Given the description of an element on the screen output the (x, y) to click on. 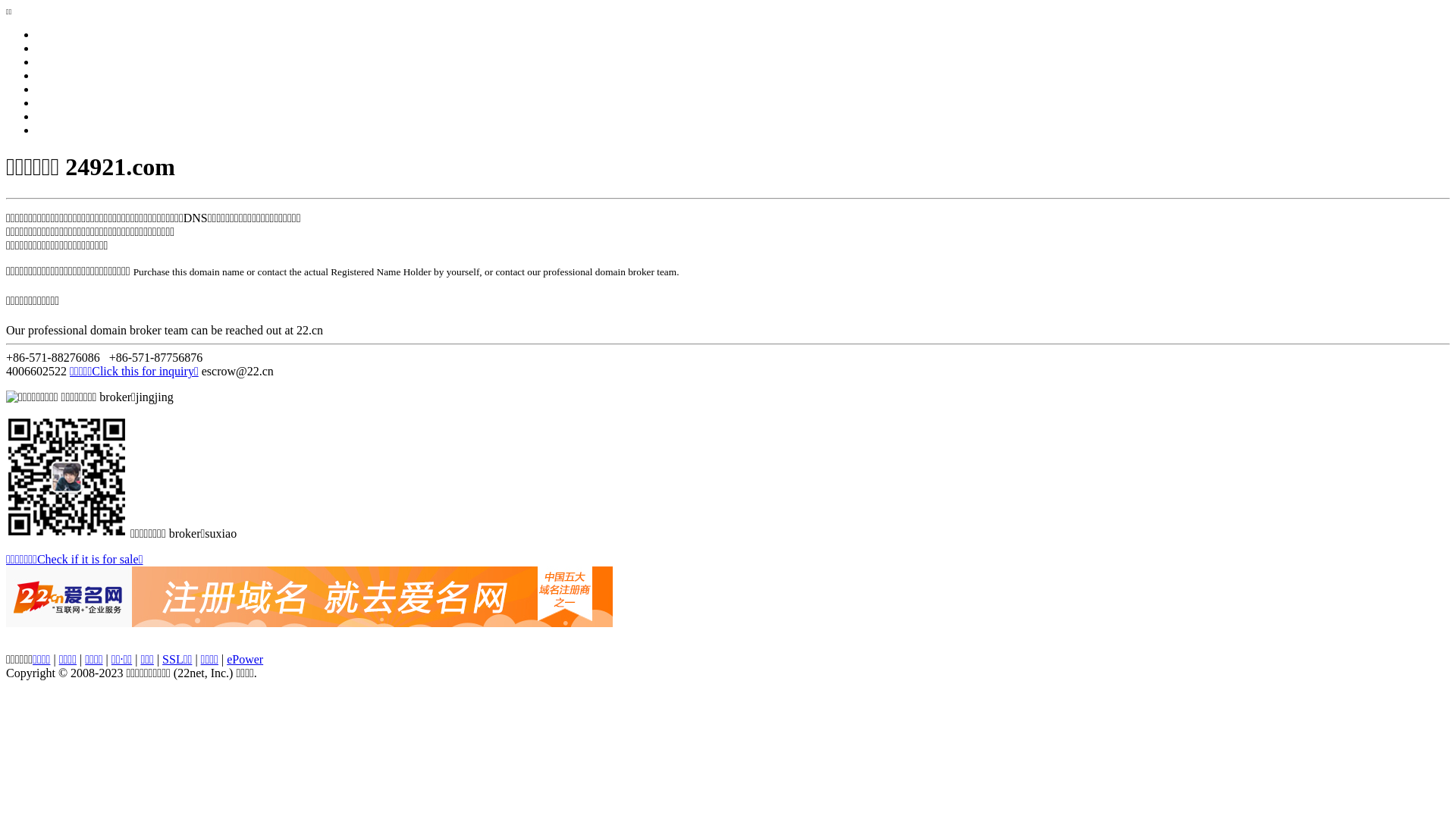
ePower Element type: text (244, 658)
